Given the description of an element on the screen output the (x, y) to click on. 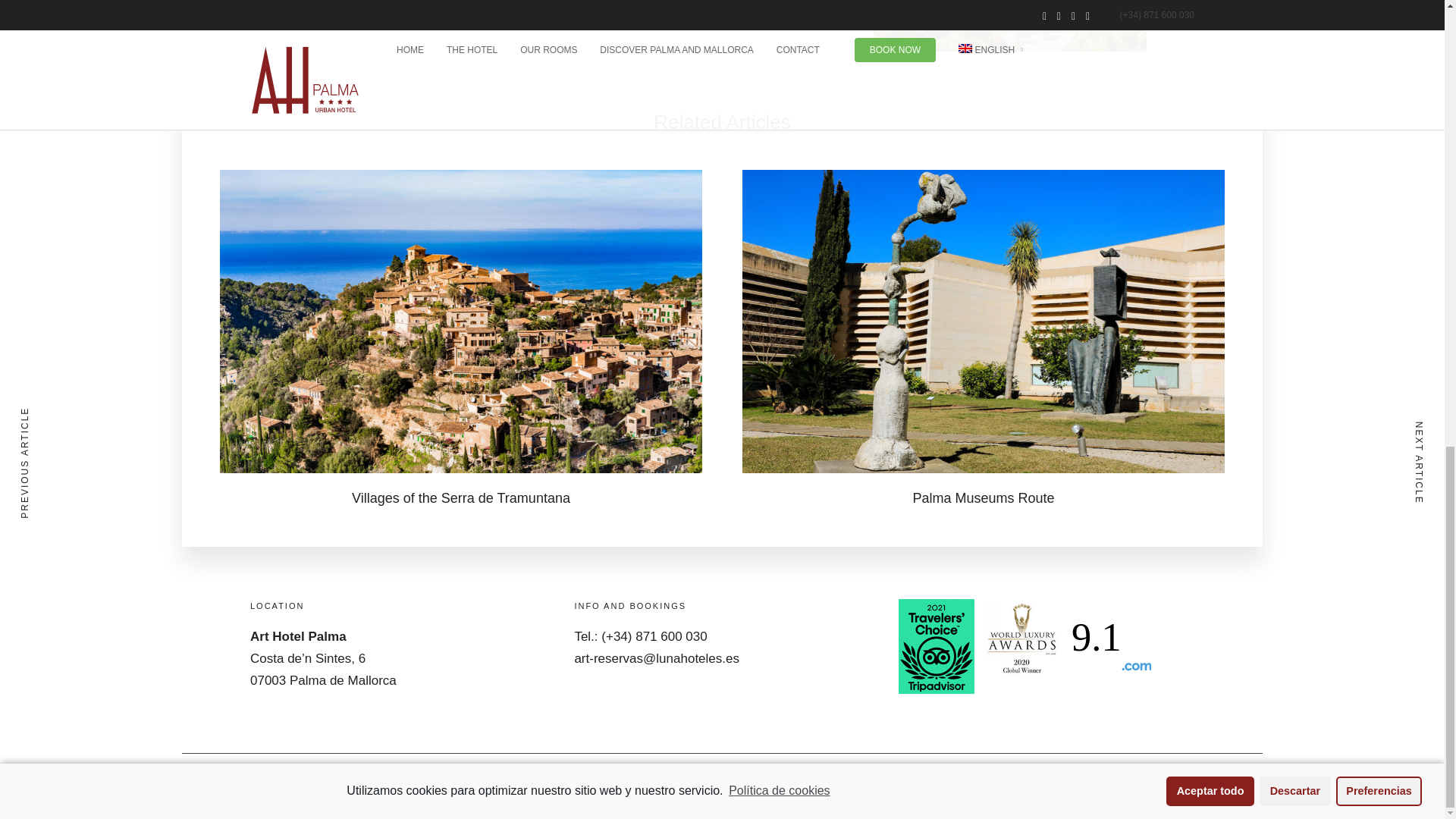
Palma Museums Route (983, 498)
Villages of the Serra de Tramuntana (461, 498)
Legal warning (402, 785)
Palma Museums Route (983, 498)
Terms and Conditions (1119, 785)
Privacy Policy (482, 785)
Villages of the Serra de Tramuntana (461, 498)
Cookies policy (564, 785)
